Given the description of an element on the screen output the (x, y) to click on. 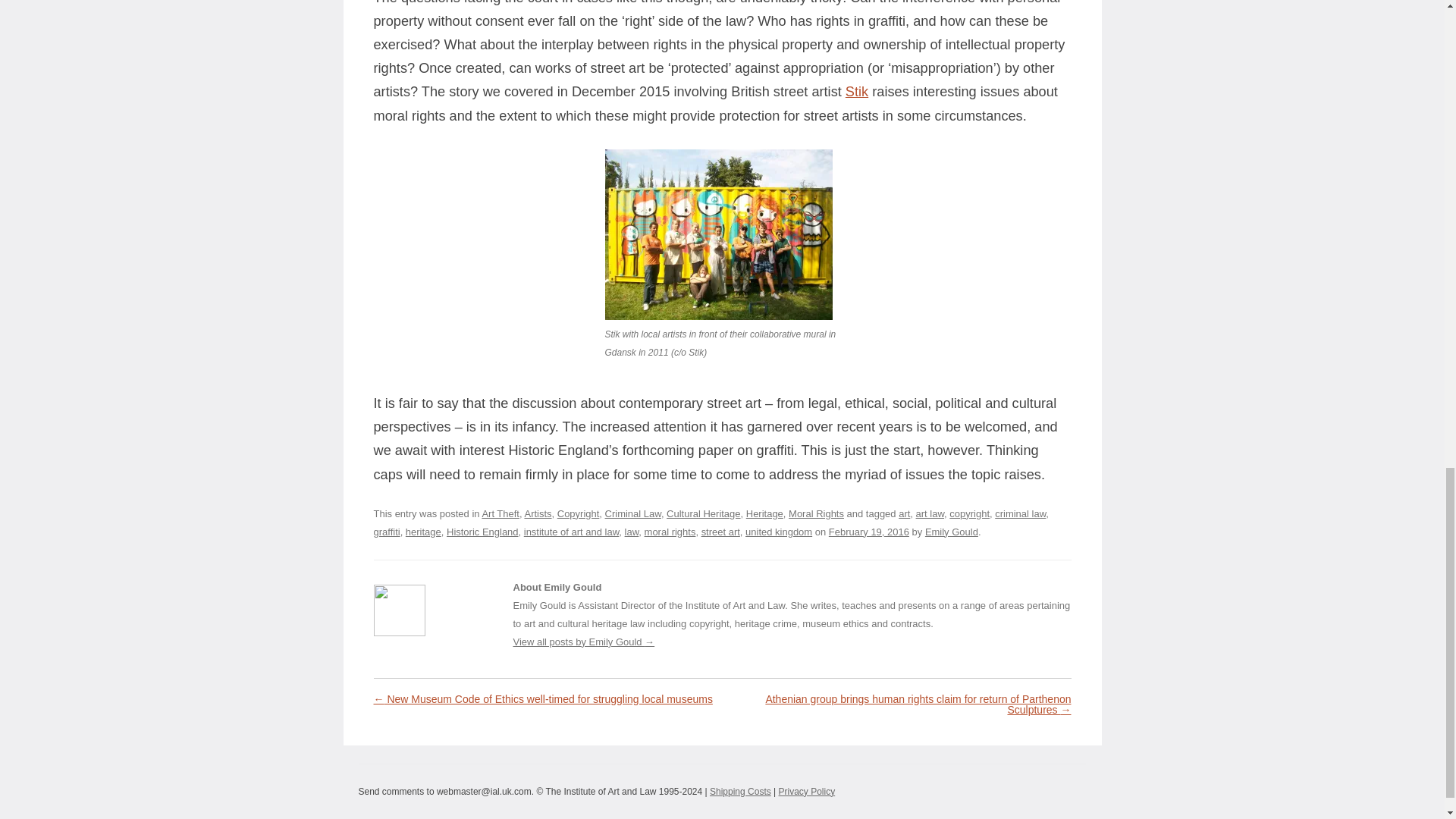
Stik (856, 91)
Cultural Heritage (702, 513)
Copyright (578, 513)
7:04 pm (868, 531)
Artists (537, 513)
Criminal Law (633, 513)
Art Theft (500, 513)
View all posts by Emily Gould (951, 531)
